Given the description of an element on the screen output the (x, y) to click on. 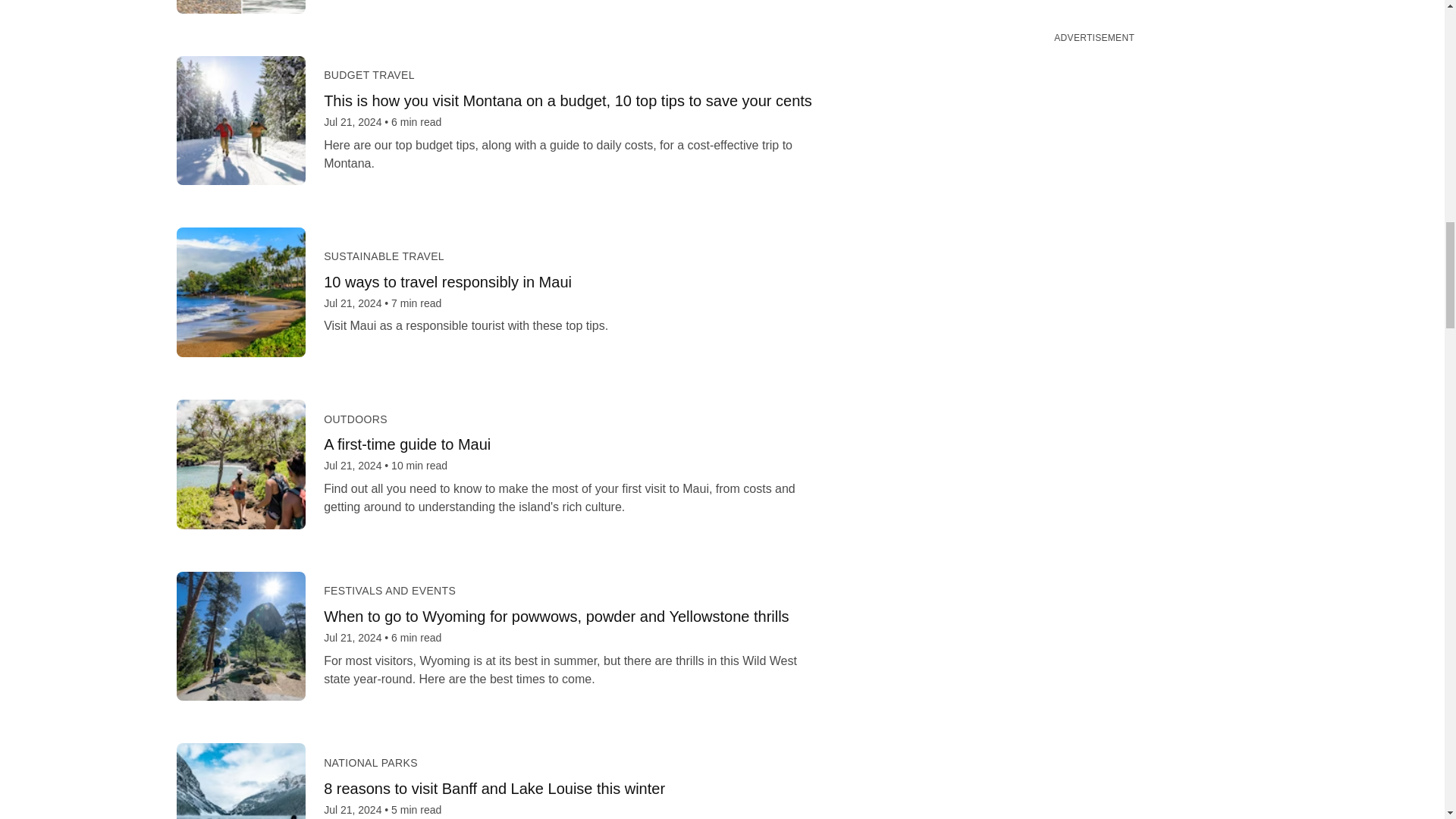
8 reasons to visit Banff and Lake Louise this winter (573, 788)
10 ways to travel responsibly in Maui (573, 282)
A first-time guide to Maui (573, 444)
